Given the description of an element on the screen output the (x, y) to click on. 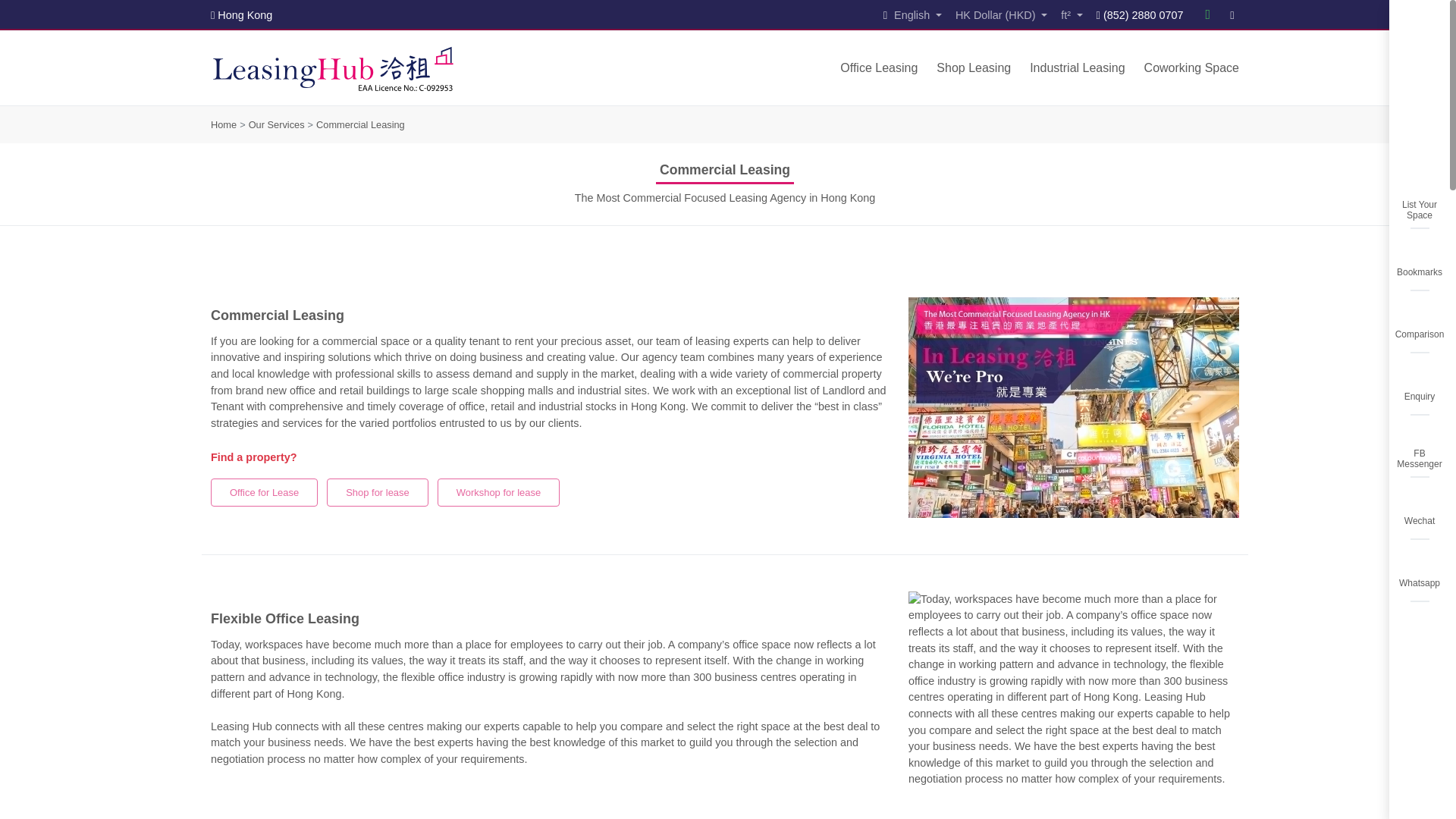
Whatsapp (1208, 15)
Email (1232, 15)
